Given the description of an element on the screen output the (x, y) to click on. 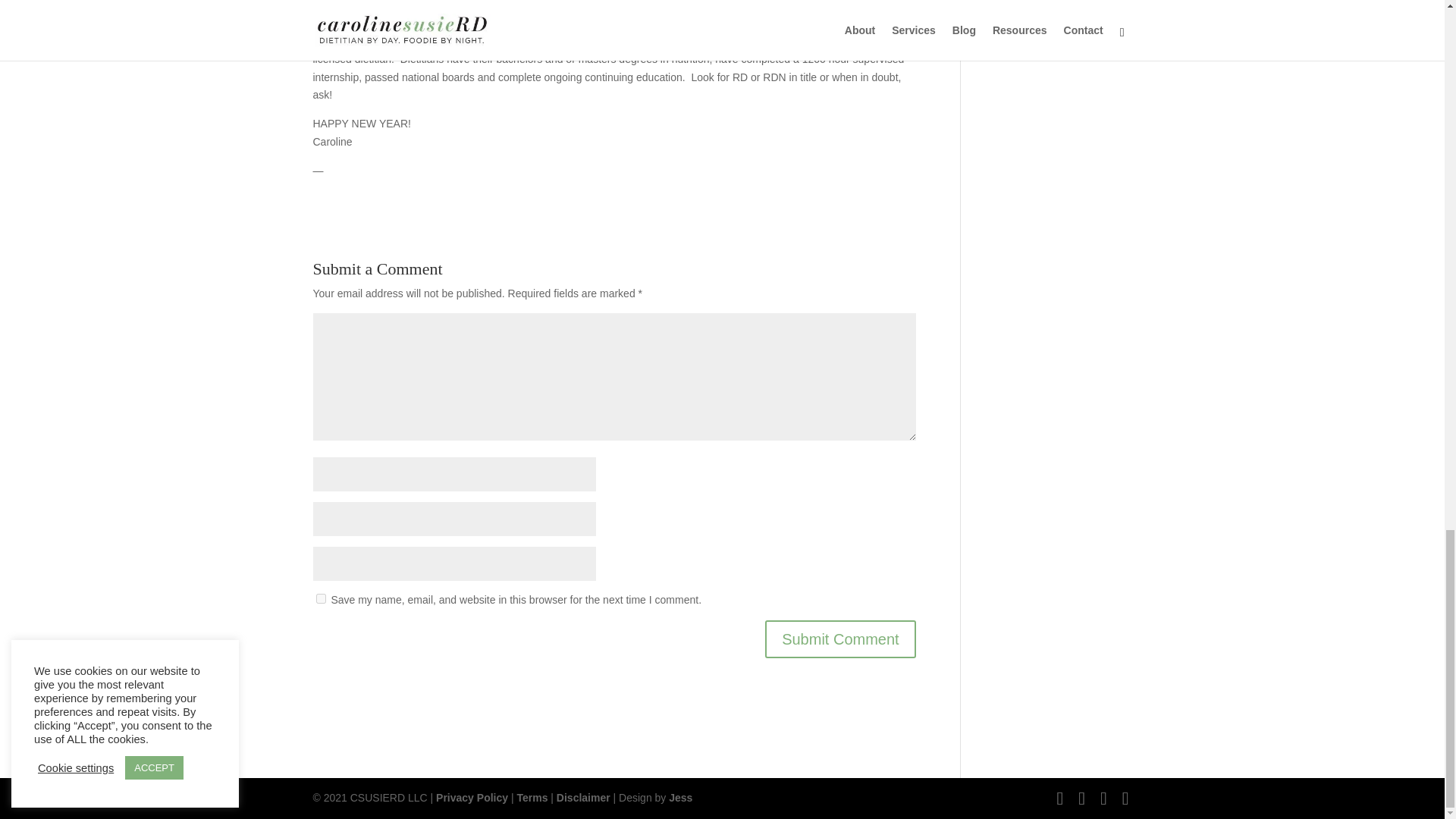
Disclaimer (583, 797)
Terms (531, 797)
Jess (680, 797)
Privacy Policy (471, 797)
yes (319, 598)
Submit Comment (840, 638)
Submit Comment (840, 638)
